Given the description of an element on the screen output the (x, y) to click on. 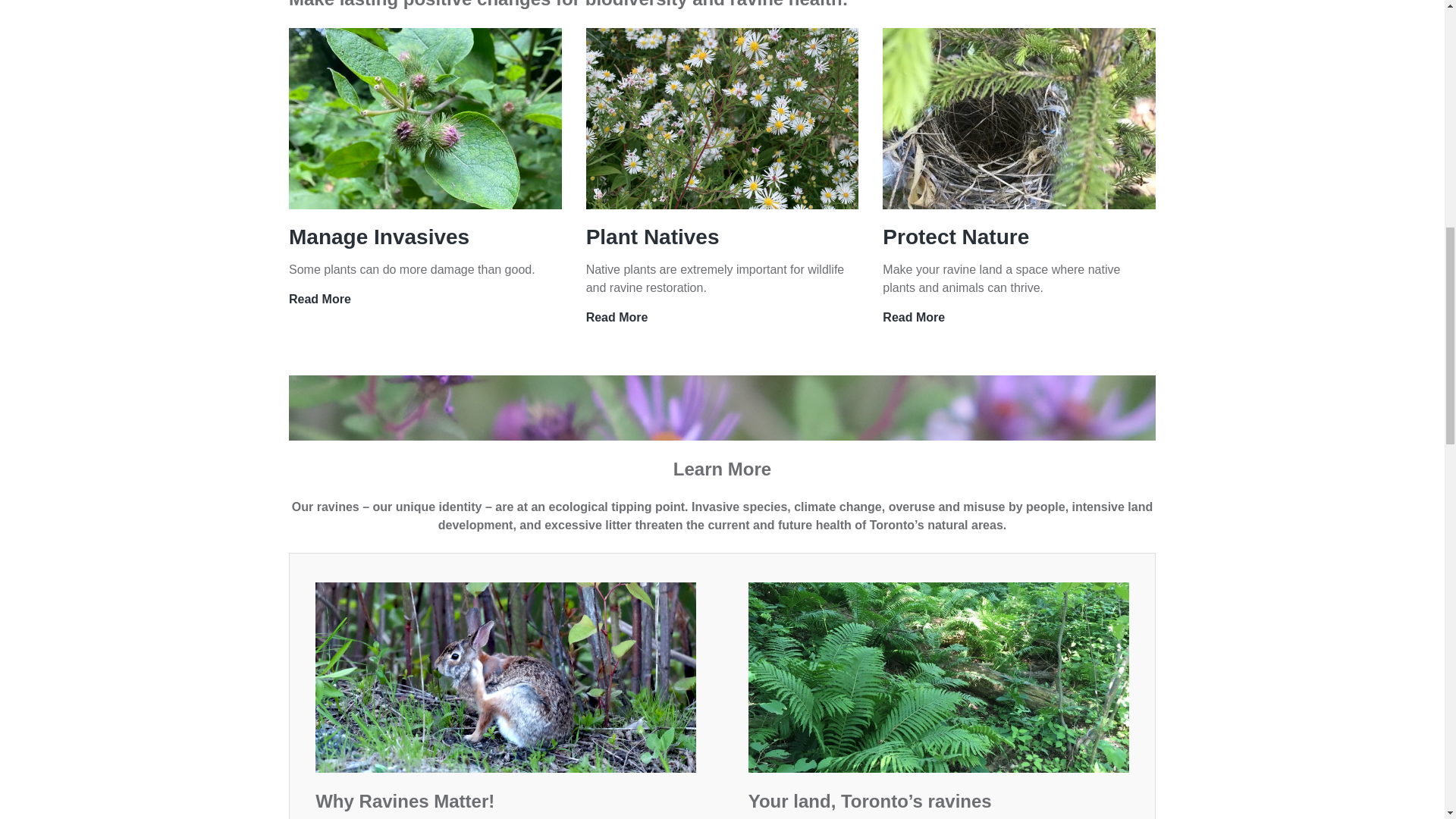
Why Ravines Matter! (913, 317)
Why Ravines Matter! (505, 677)
Plant Natives (405, 801)
Protect Nature (652, 236)
Why Ravines Matter! (616, 317)
Manage Invasives (955, 236)
